Given the description of an element on the screen output the (x, y) to click on. 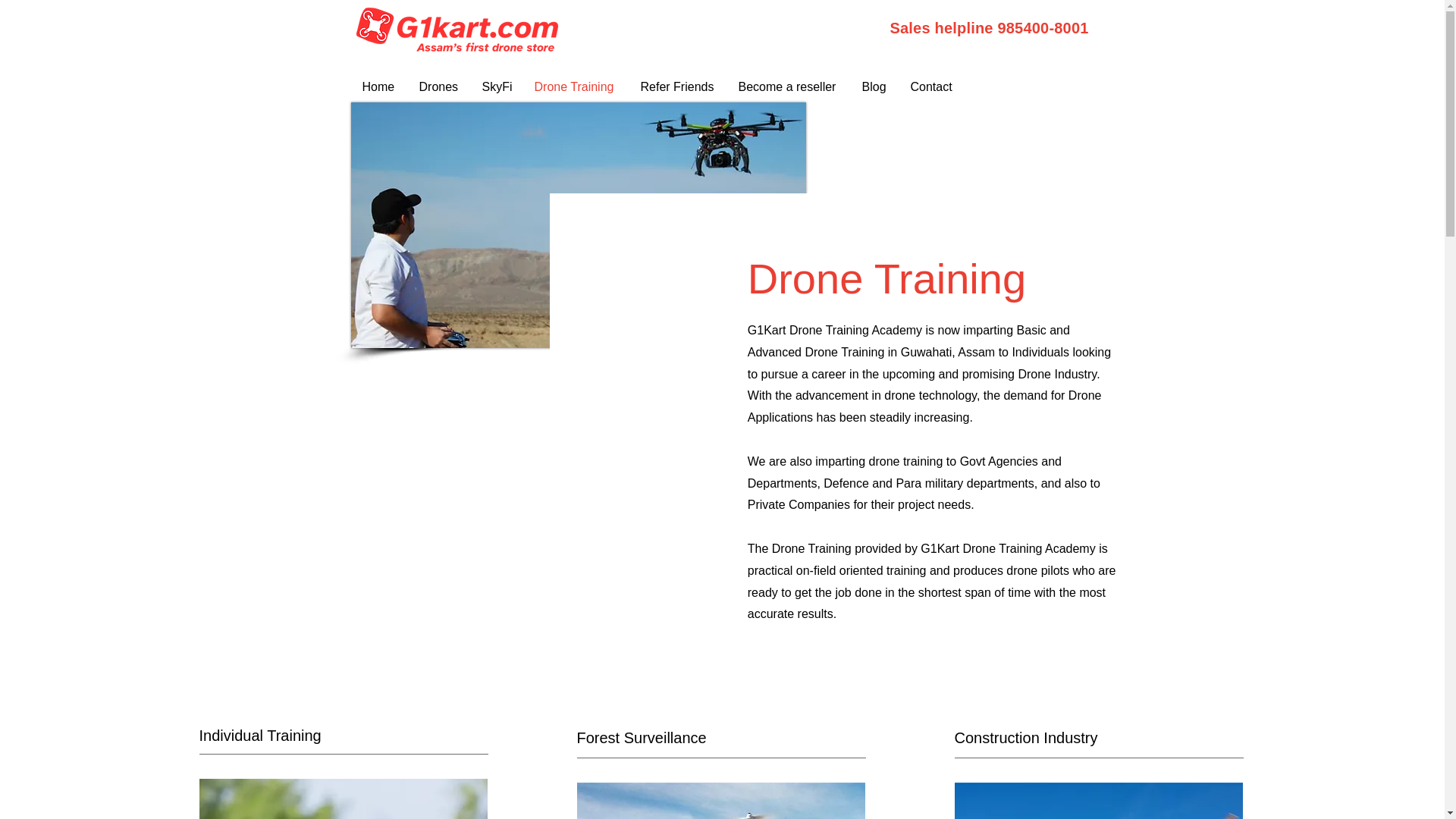
Home (378, 86)
Blog (874, 86)
G1Kart drone training.jpeg (577, 225)
Drone Training (575, 86)
Contact (932, 86)
Refer Friends (677, 86)
Drones (438, 86)
Become a reseller (788, 86)
SkyFi (496, 86)
